Given the description of an element on the screen output the (x, y) to click on. 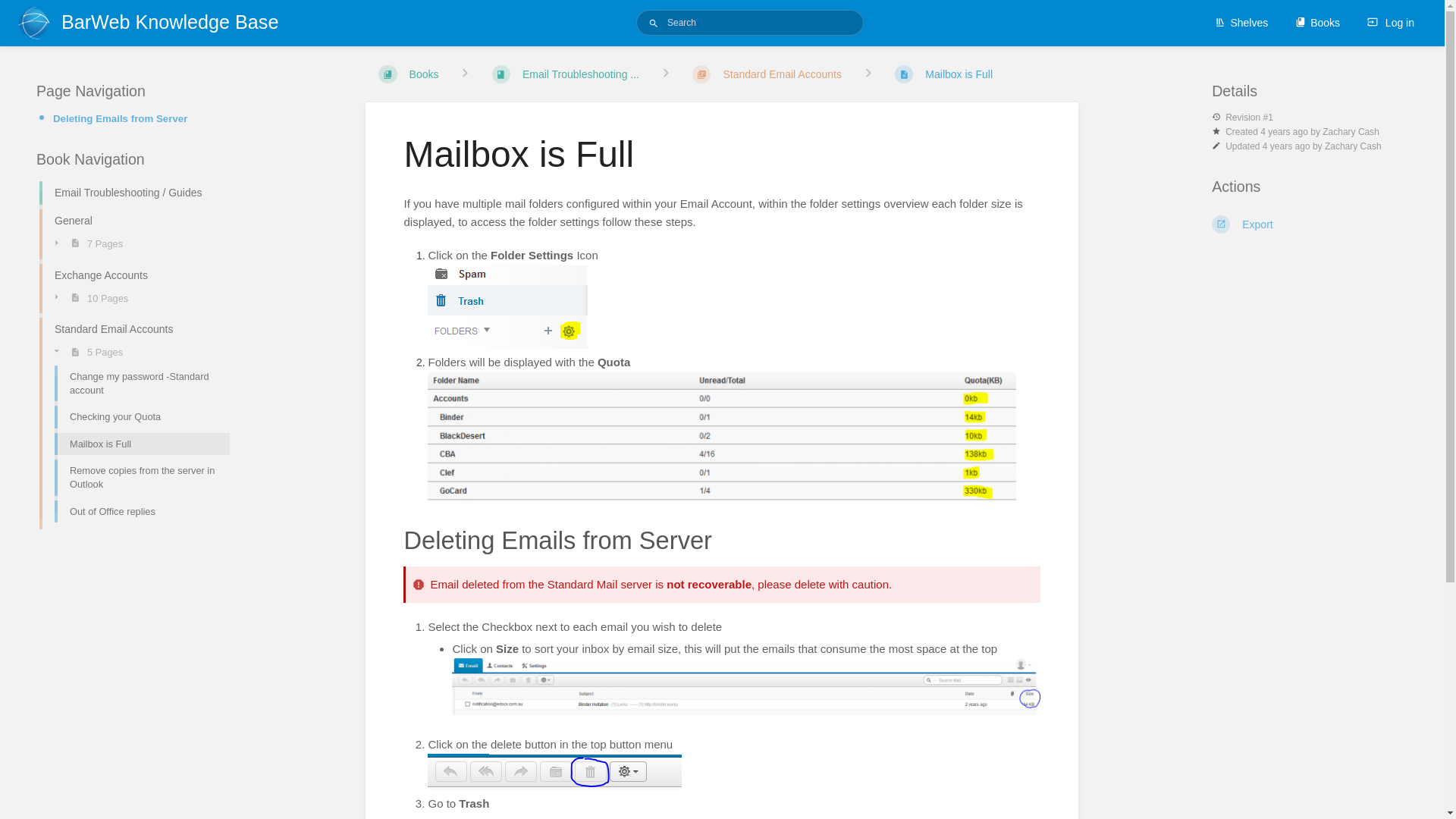
Standard Email Accounts Element type: text (134, 329)
Log in Element type: text (1390, 22)
Remove copies from the server in Outlook Element type: text (141, 477)
Zachary Cash Element type: text (1350, 131)
Email Troubleshooting ... Element type: text (565, 73)
Zachary Cash Element type: text (1352, 146)
BarWeb Knowledge Base Element type: text (157, 22)
Mailbox is Full Element type: text (141, 444)
Email Troubleshooting / Guides Element type: text (134, 192)
Standard Email Accounts Element type: text (766, 73)
Deleting Emails from Server Element type: text (120, 118)
Out of Office replies Element type: text (141, 510)
Books Element type: text (1317, 22)
Shelves Element type: text (1241, 22)
Books Element type: text (408, 73)
General Element type: text (134, 221)
Change my password -Standard account Element type: text (141, 383)
Exchange Accounts Element type: text (134, 274)
Checking your Quota Element type: text (141, 416)
Mailbox is Full Element type: text (943, 73)
